Given the description of an element on the screen output the (x, y) to click on. 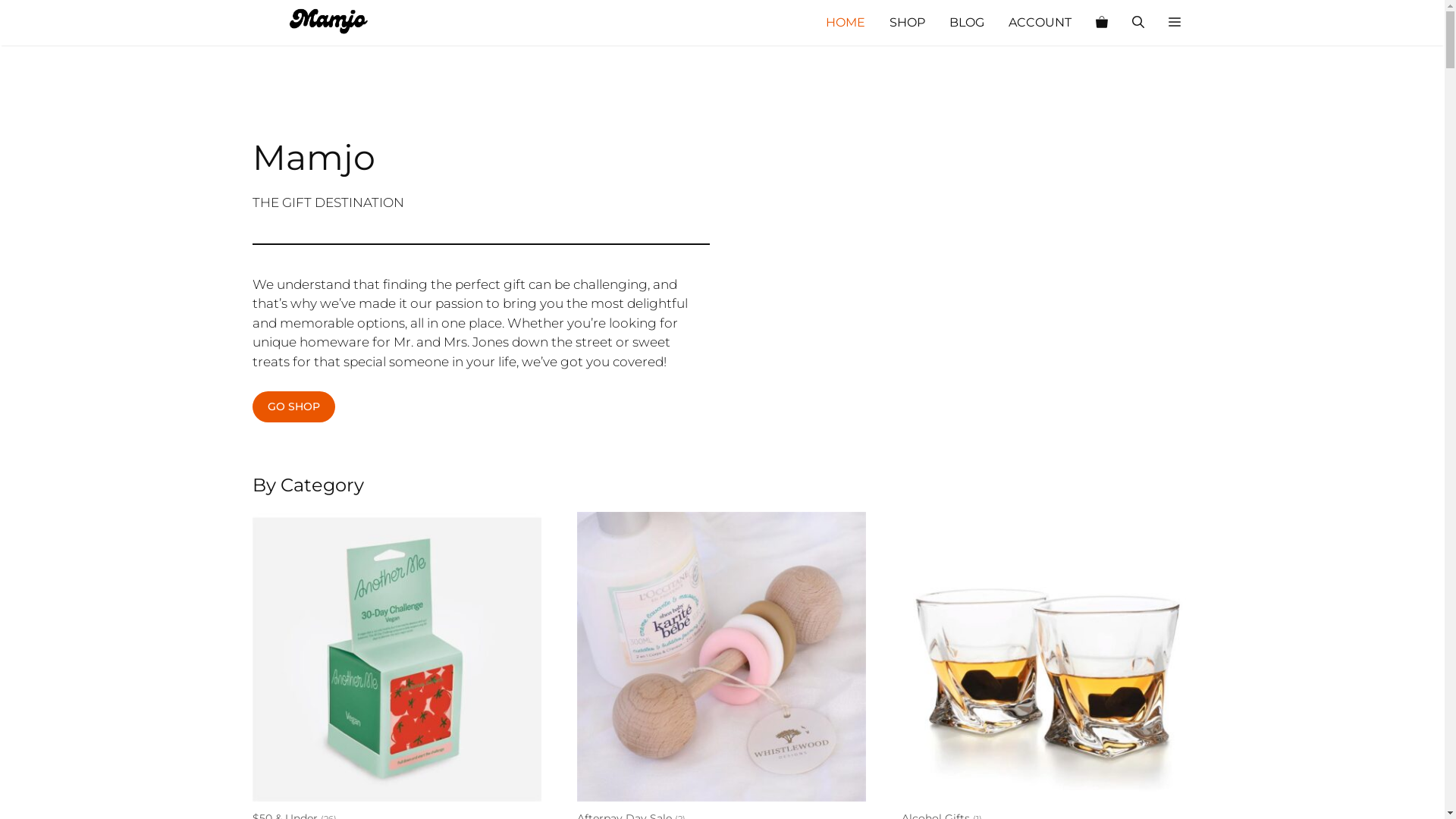
ACCOUNT Element type: text (1039, 22)
SHOP Element type: text (906, 22)
GO SHOP Element type: text (292, 406)
Mamjo Element type: hover (327, 22)
BLOG Element type: text (966, 22)
View your shopping cart Element type: hover (1100, 22)
HOME Element type: text (844, 22)
